Given the description of an element on the screen output the (x, y) to click on. 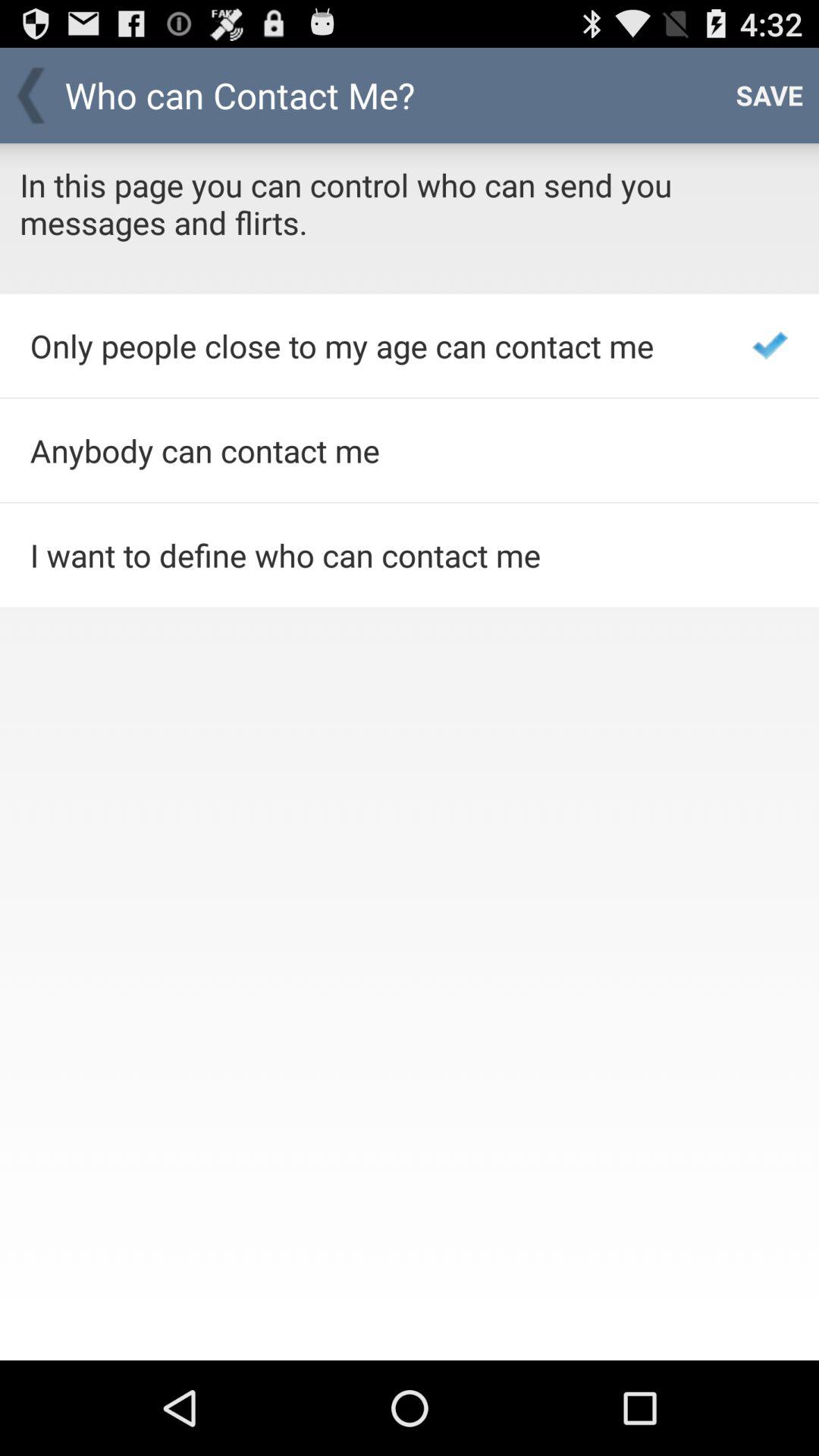
open i want to item (371, 554)
